Given the description of an element on the screen output the (x, y) to click on. 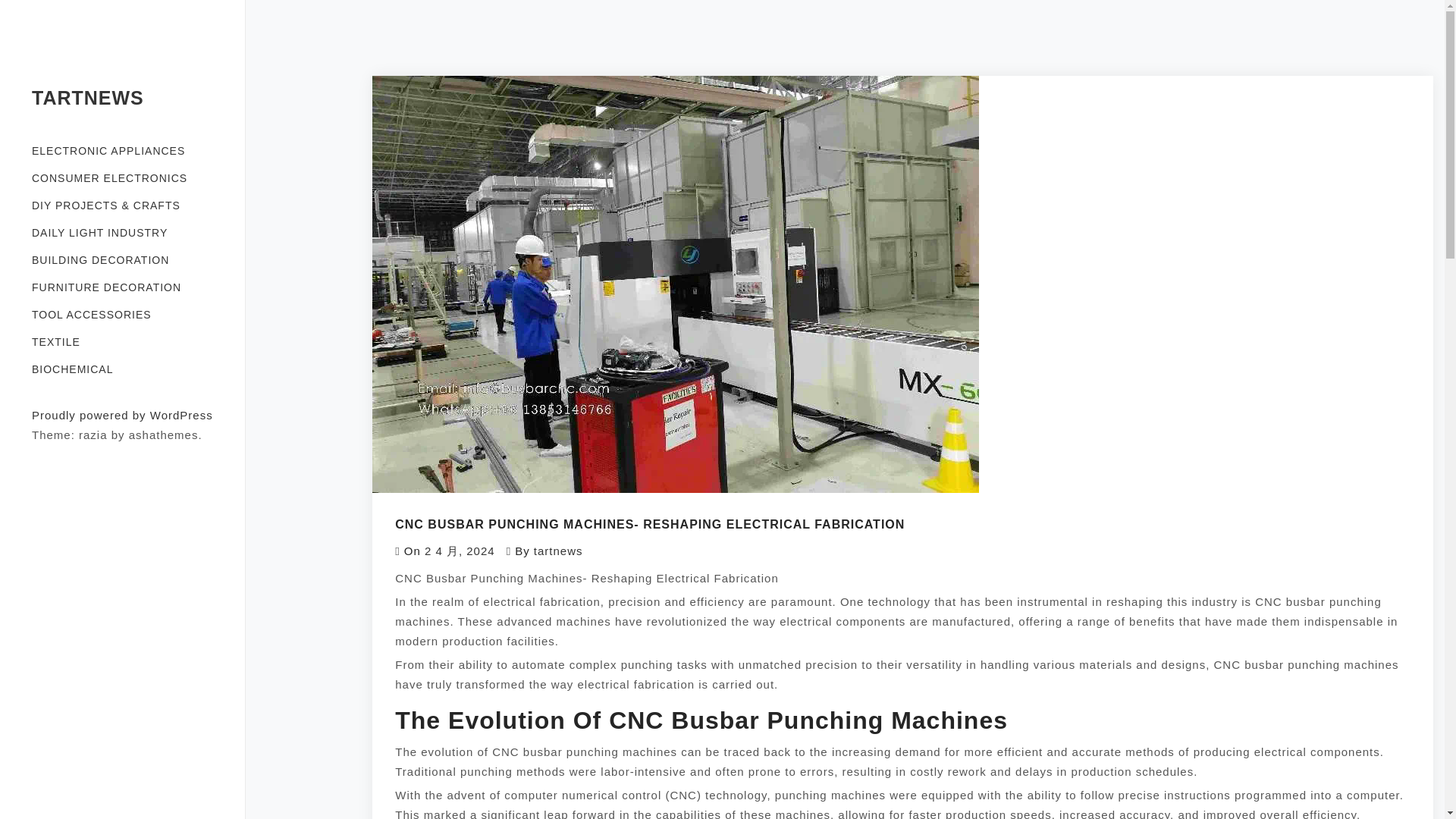
tartnews (558, 550)
TARTNEWS (88, 97)
BUILDING DECORATION (122, 259)
DAILY LIGHT INDUSTRY (122, 232)
BIOCHEMICAL (122, 369)
TOOL ACCESSORIES (122, 314)
Proudly powered by WordPress (122, 414)
ELECTRONIC APPLIANCES (122, 150)
CONSUMER ELECTRONICS (122, 177)
TEXTILE (122, 341)
FURNITURE DECORATION (122, 287)
